Given the description of an element on the screen output the (x, y) to click on. 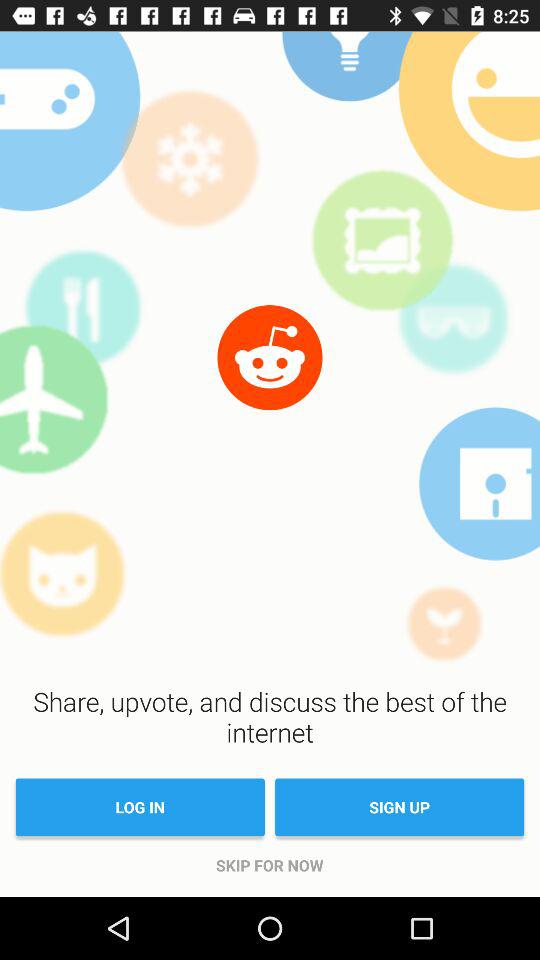
flip until the skip for now icon (269, 865)
